Given the description of an element on the screen output the (x, y) to click on. 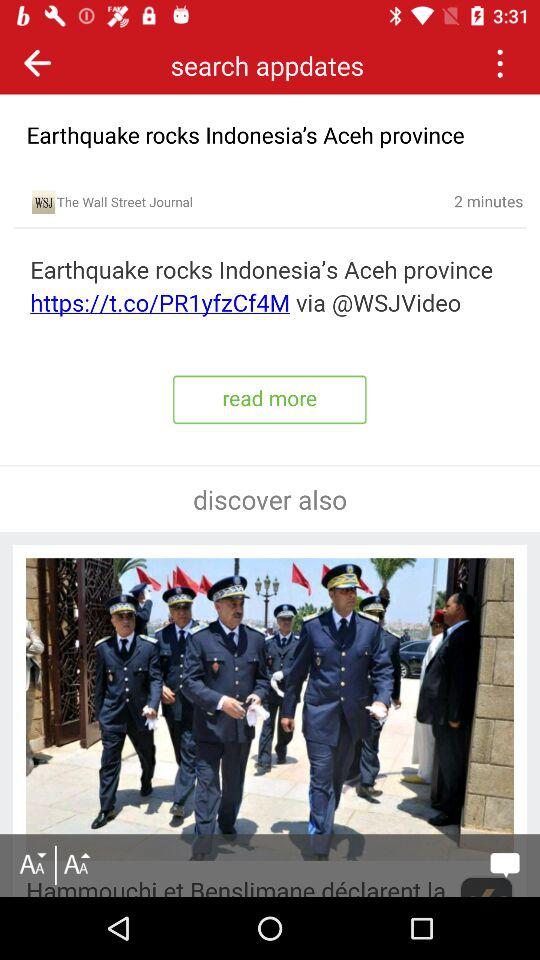
click to message option (504, 865)
